Given the description of an element on the screen output the (x, y) to click on. 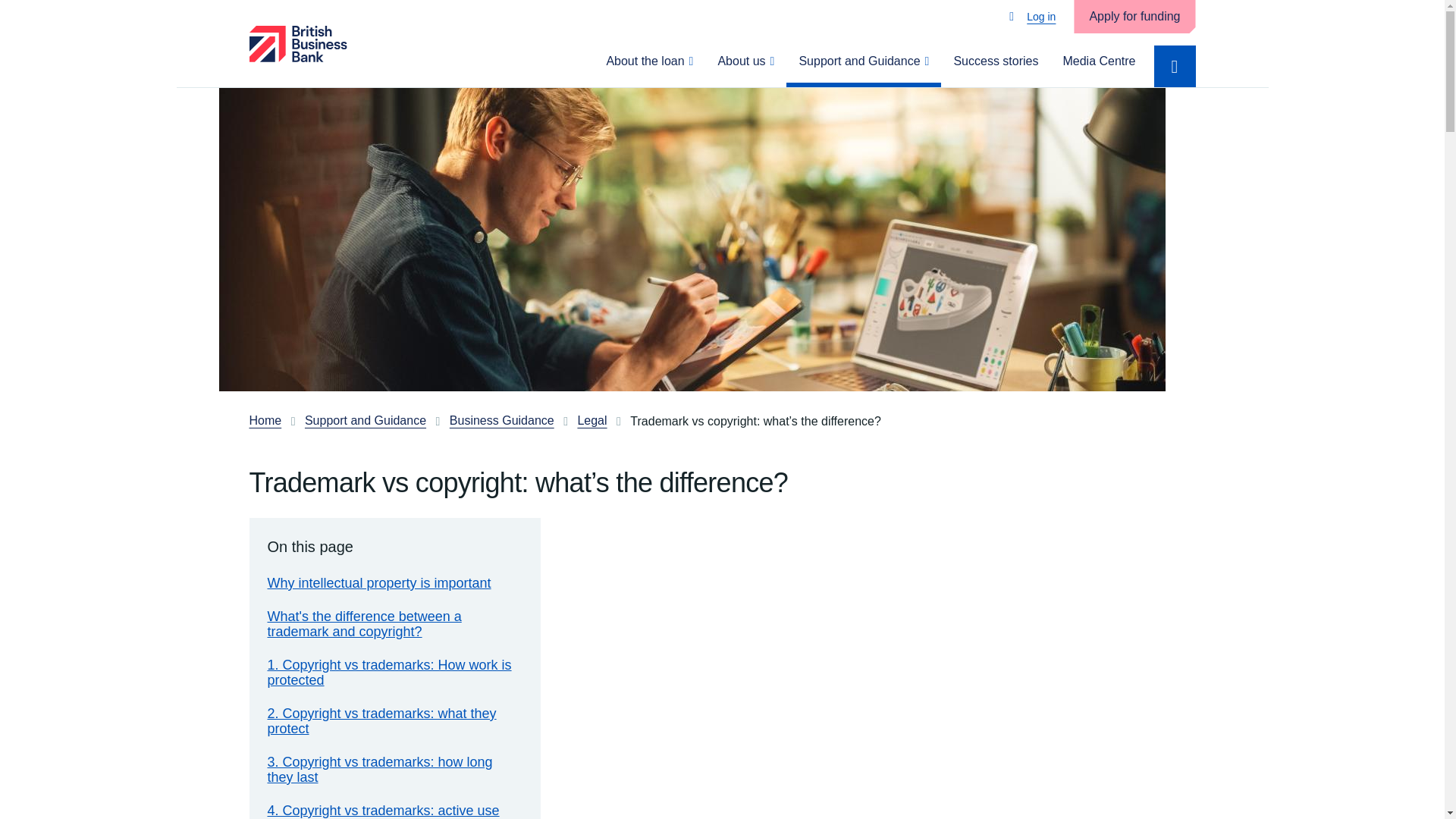
Support and Guidance (863, 65)
About the loan (649, 65)
About us (745, 65)
Apply for funding (1134, 16)
Log in (1032, 16)
